Given the description of an element on the screen output the (x, y) to click on. 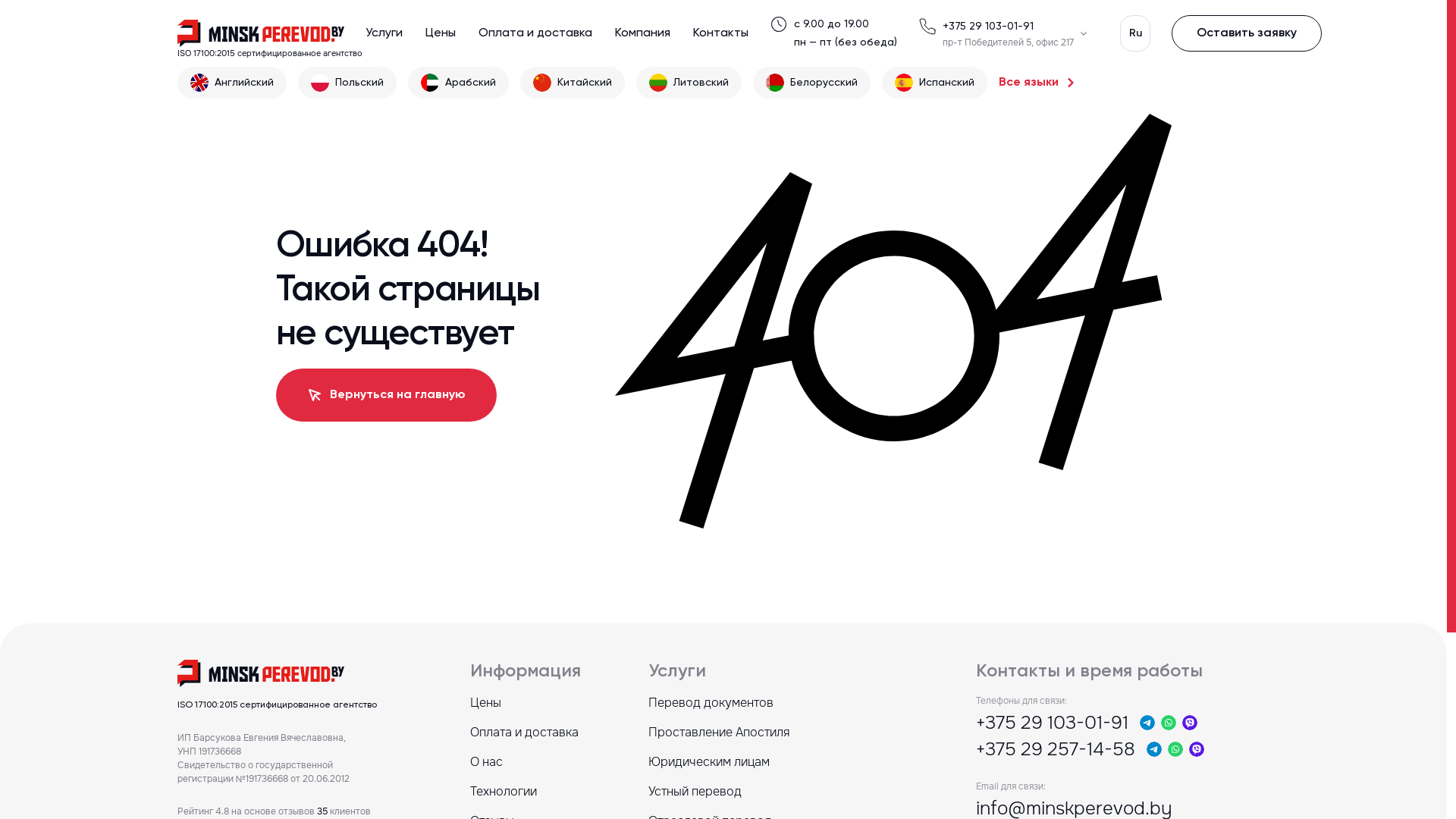
+375 29 103-01-91 Element type: text (987, 26)
+375 29 103-01-91 Element type: text (1051, 722)
35 Element type: text (321, 811)
Ru Element type: text (1135, 33)
+375 29 257-14-58 Element type: text (1055, 748)
